Given the description of an element on the screen output the (x, y) to click on. 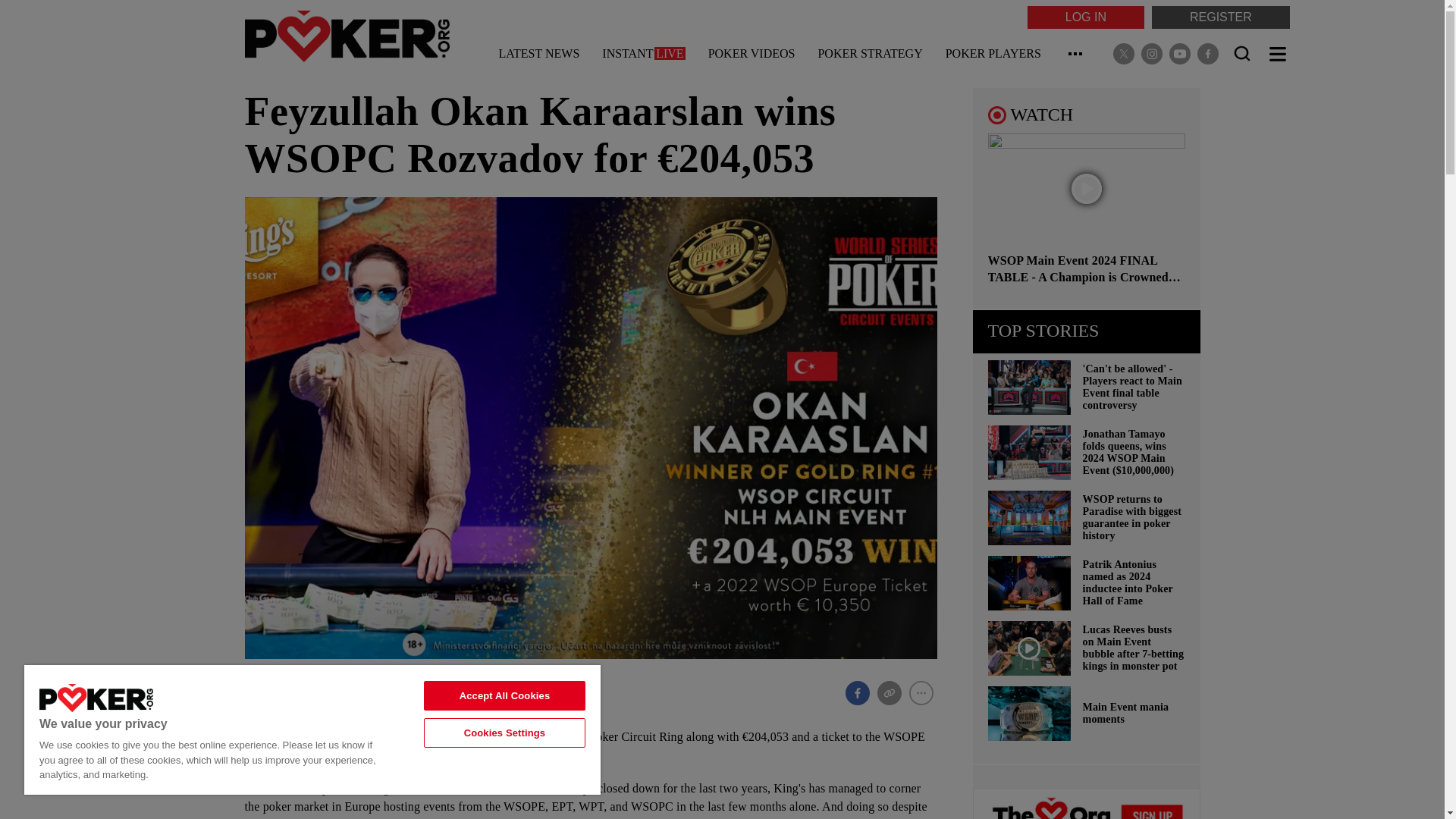
LATEST NEWS (539, 56)
POKER PLAYERS (992, 56)
LOG IN (1085, 16)
INSTANT LIVE (643, 56)
REGISTER (1220, 16)
POKER STRATEGY (868, 56)
Company Logo (95, 697)
POKER VIDEOS (750, 56)
